Given the description of an element on the screen output the (x, y) to click on. 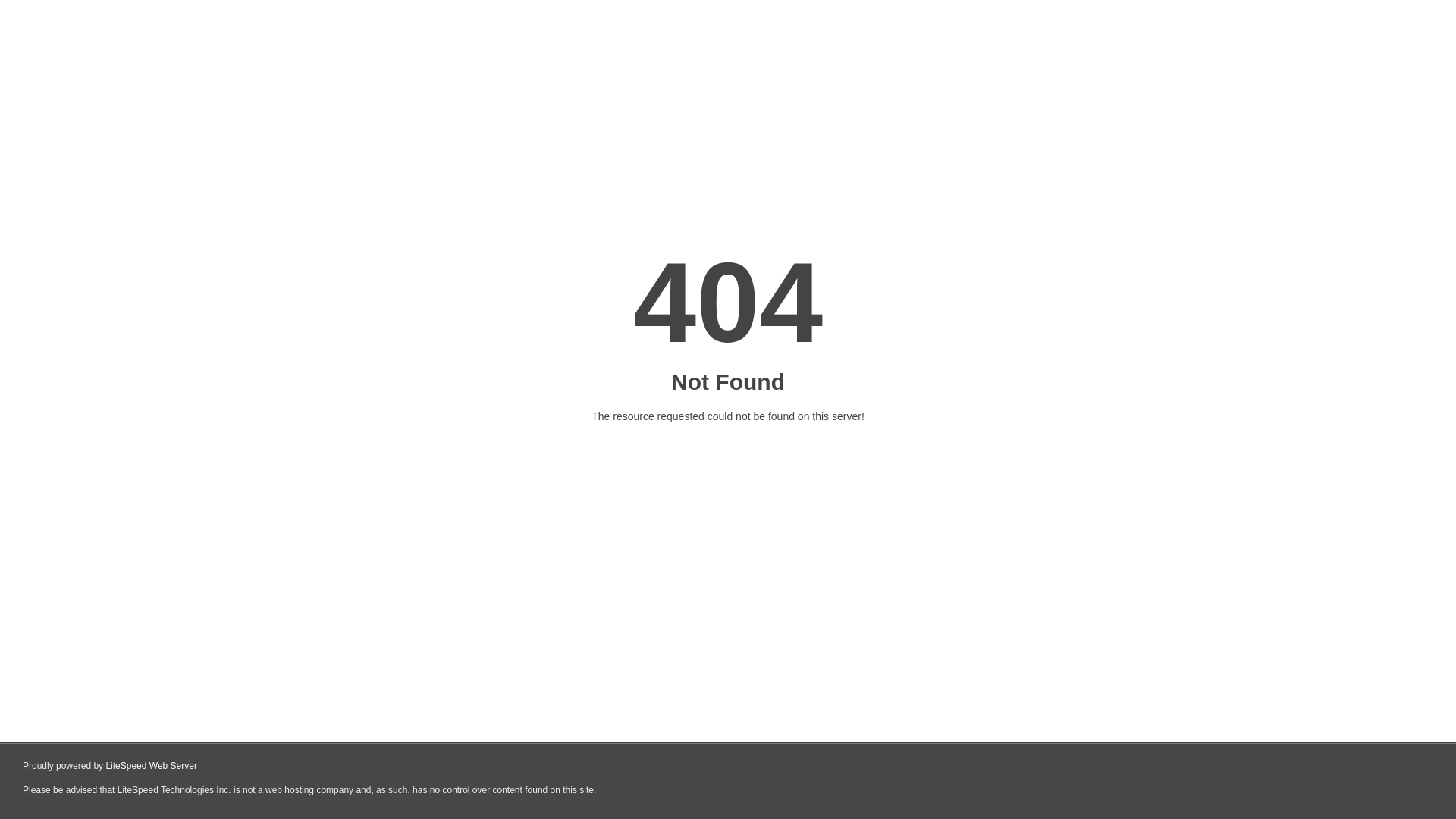
LiteSpeed Web Server Element type: text (151, 765)
